Given the description of an element on the screen output the (x, y) to click on. 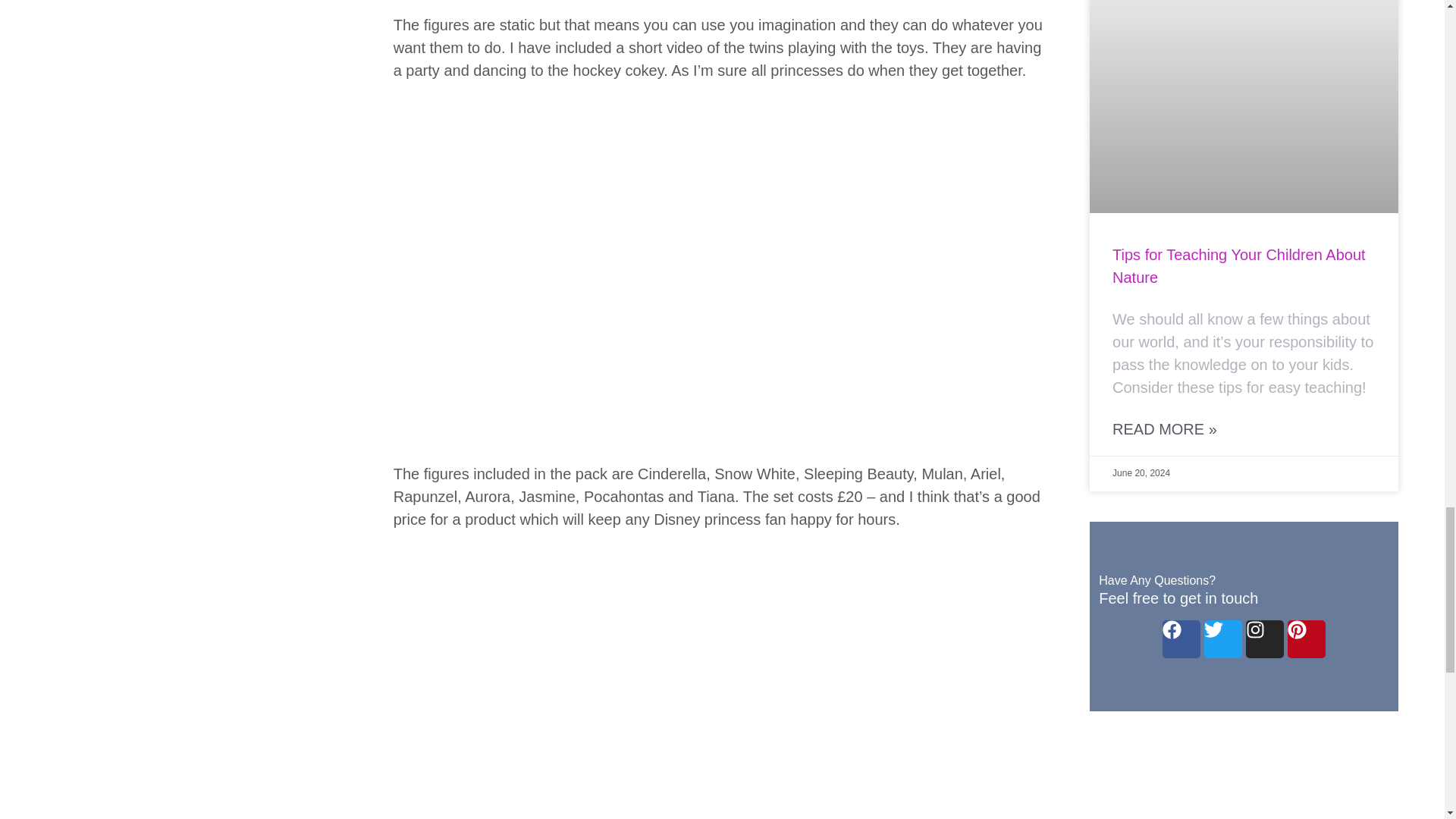
Tips for Teaching Your Children About Nature (1238, 265)
